Given the description of an element on the screen output the (x, y) to click on. 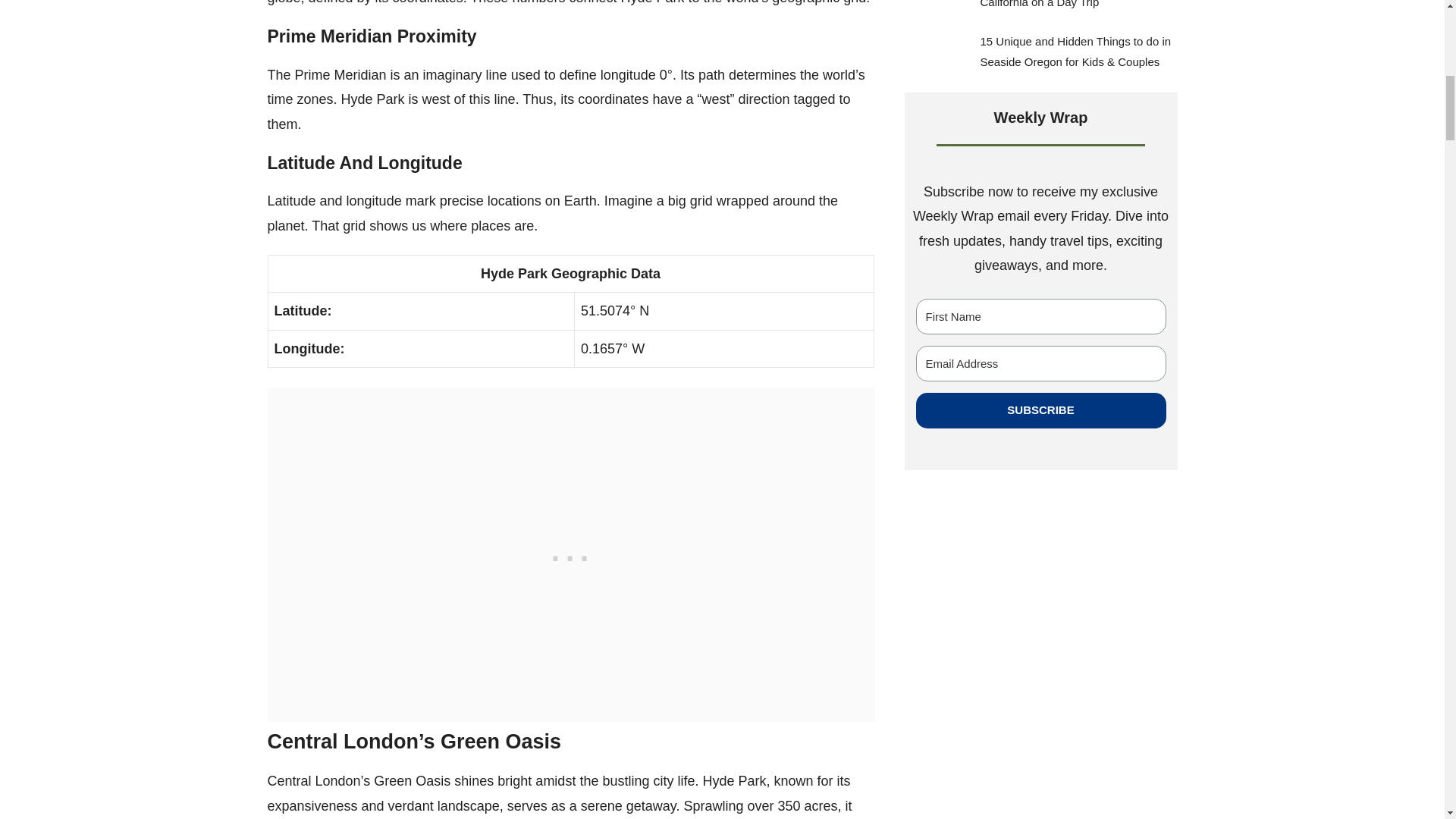
SUBSCRIBE (1040, 410)
13 Things To Do in Half Moon Bay, California on a Day Trip (1066, 4)
